Given the description of an element on the screen output the (x, y) to click on. 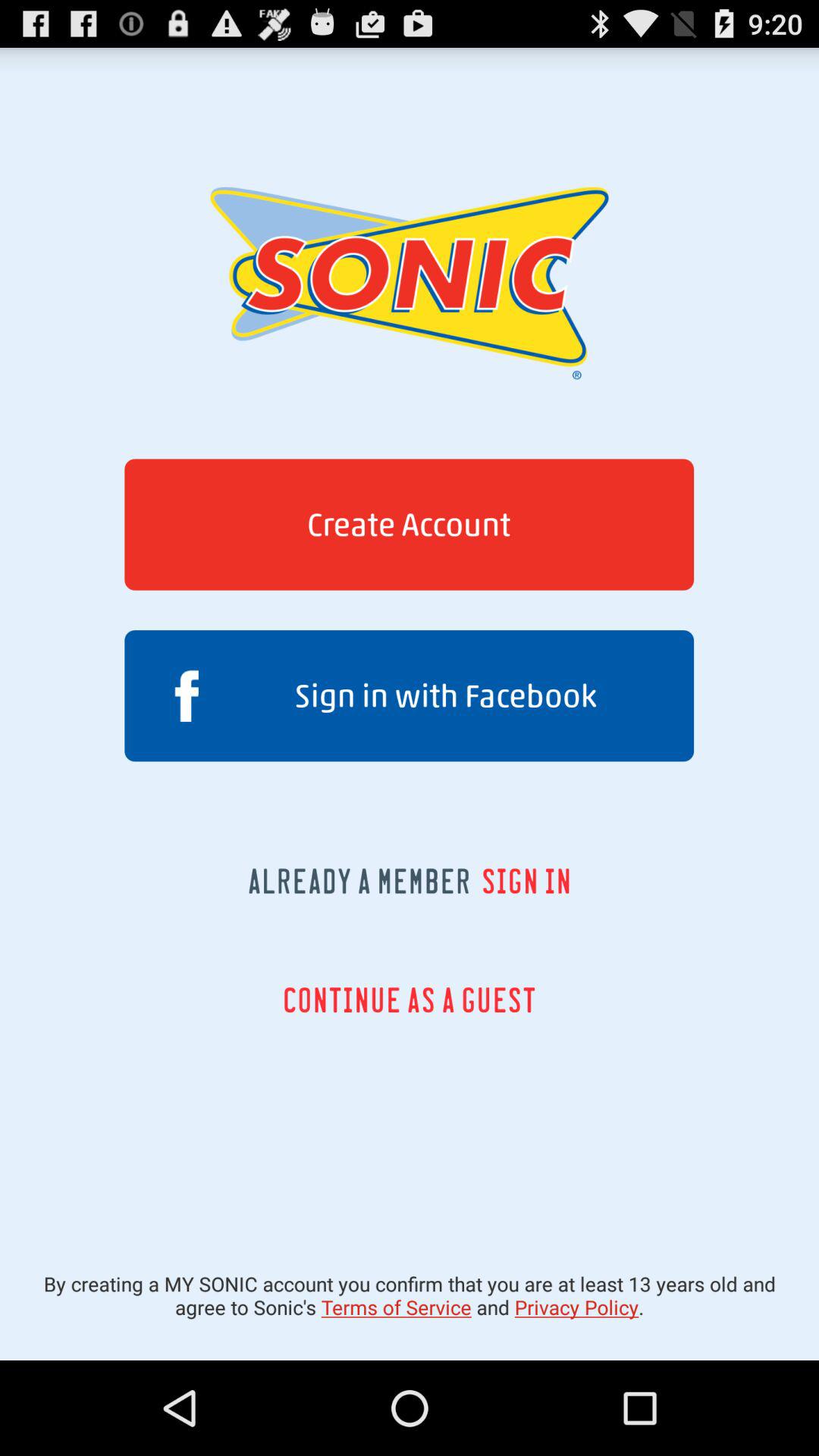
tap the create account button (408, 524)
